Given the description of an element on the screen output the (x, y) to click on. 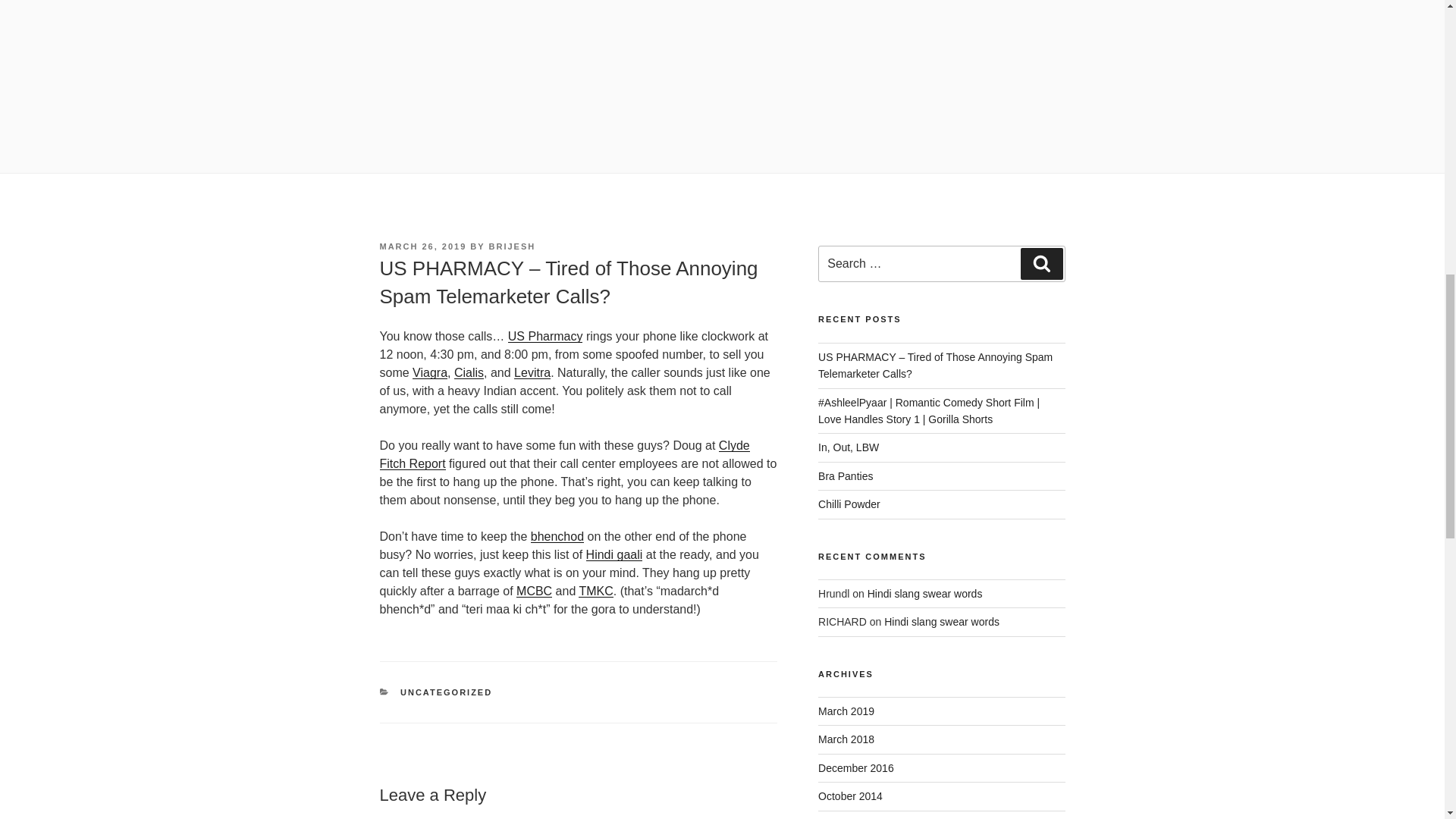
bhenchod (557, 535)
Cialis (468, 372)
Search (1041, 264)
TMKC (595, 590)
MARCH 26, 2019 (421, 245)
Hindi slang swear words (924, 593)
Bra Panties (845, 476)
March 2018 (846, 739)
MCBC (533, 590)
October 2014 (850, 796)
March 2019 (846, 711)
December 2016 (855, 767)
Levitra (531, 372)
Viagra (429, 372)
Hindi slang swear words (940, 621)
